Given the description of an element on the screen output the (x, y) to click on. 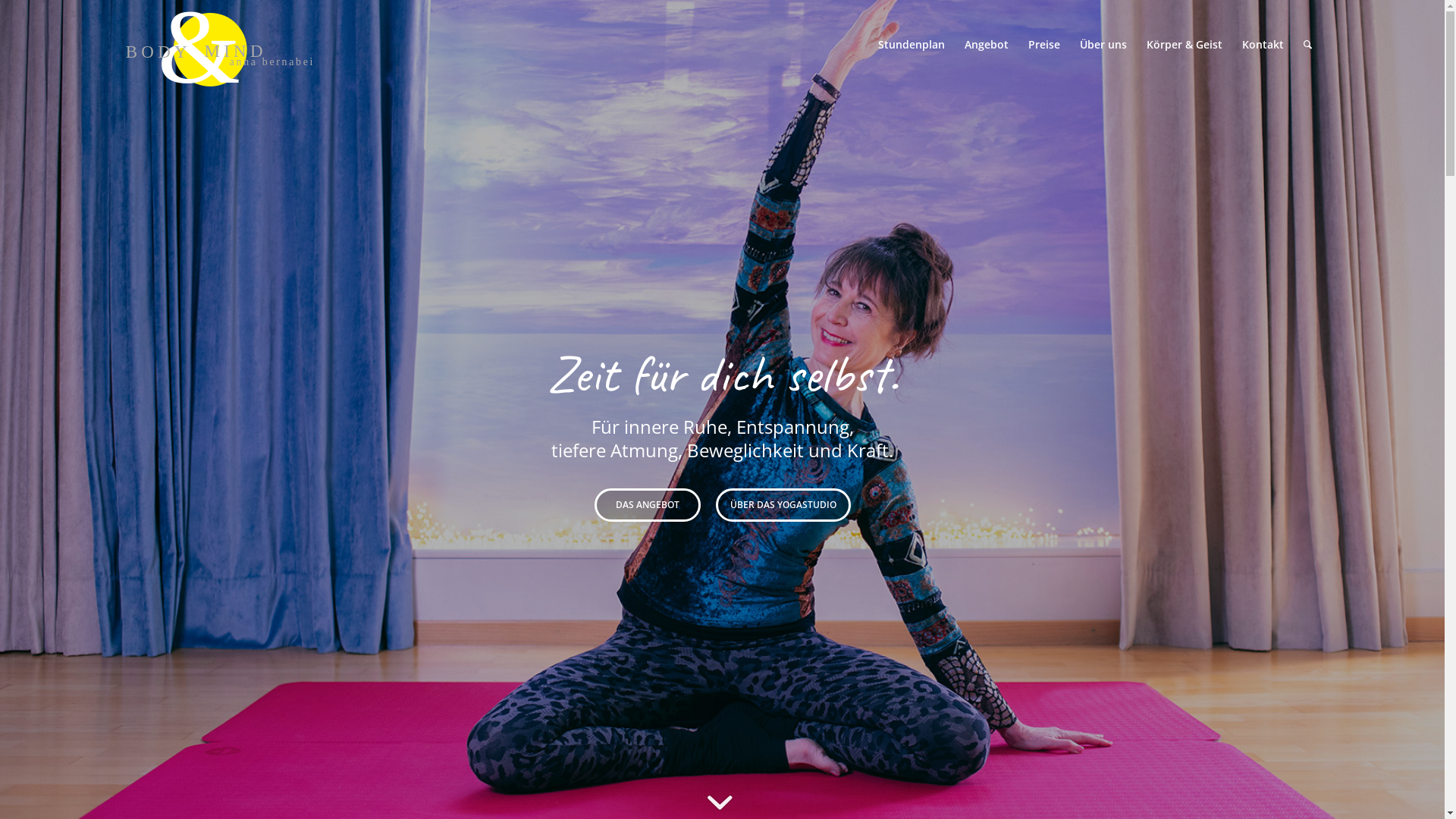
Stundenplan Element type: text (910, 44)
Angebot Element type: text (985, 44)
DAS ANGEBOT Element type: text (647, 504)
Kontakt Element type: text (1261, 44)
&
MIND
BODY
anna bernabei Element type: text (223, 44)
Preise Element type: text (1043, 44)
